Given the description of an element on the screen output the (x, y) to click on. 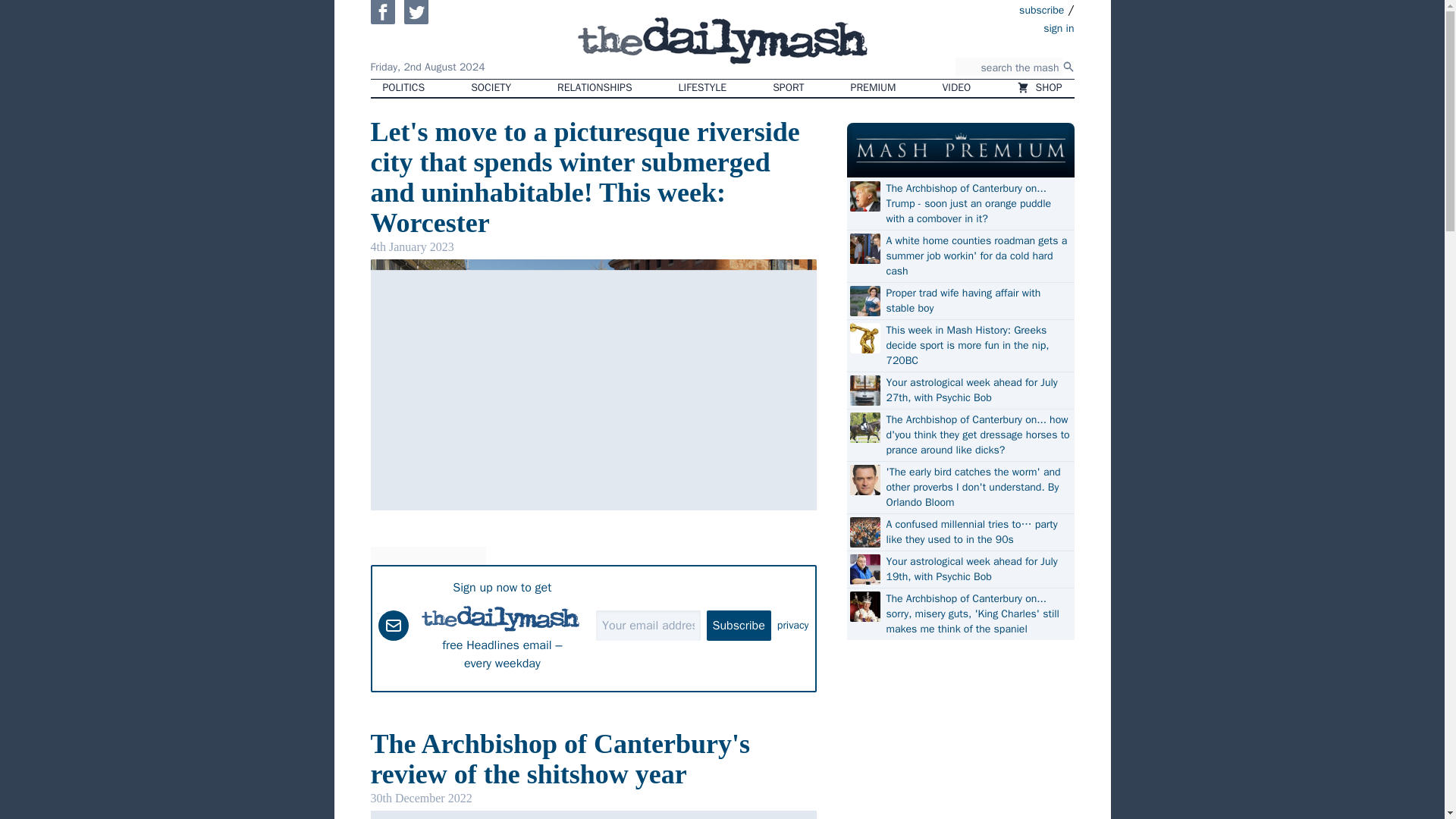
Your astrological week ahead for July 27th, with Psychic Bob (977, 390)
Your astrological week ahead for July 19th, with Psychic Bob (977, 569)
LIFESTYLE (702, 88)
SHOP (1039, 88)
Proper trad wife having affair with stable boy (977, 300)
SOCIETY (490, 88)
POLITICS (402, 88)
SPORT (787, 88)
sign in (970, 27)
subscribe (1041, 9)
PREMIUM (873, 88)
VIDEO (957, 88)
